Given the description of an element on the screen output the (x, y) to click on. 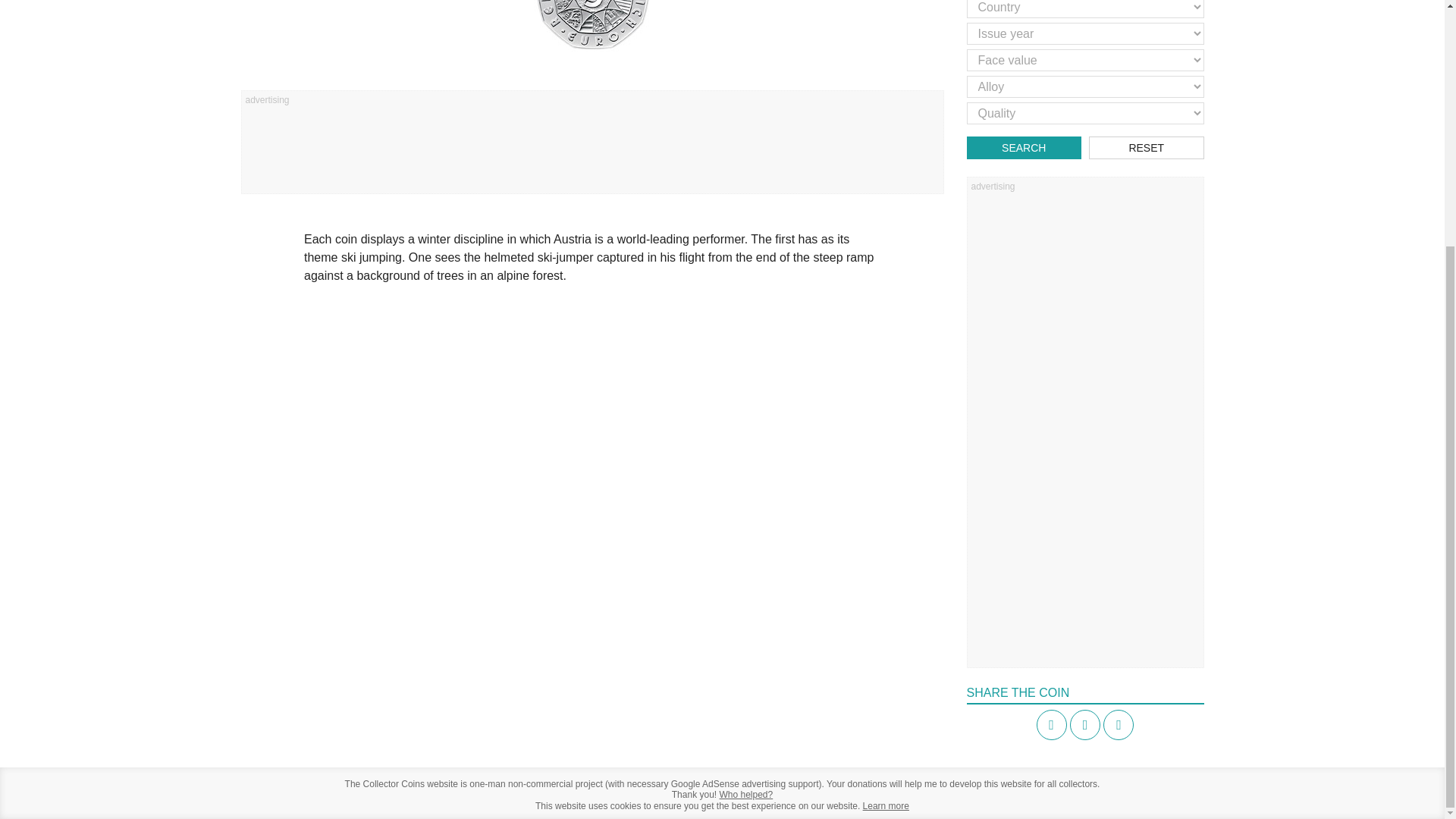
SEARCH (1023, 147)
Who helped? (746, 794)
RESET (1146, 147)
Learn more (885, 805)
Advertisement (592, 146)
